Given the description of an element on the screen output the (x, y) to click on. 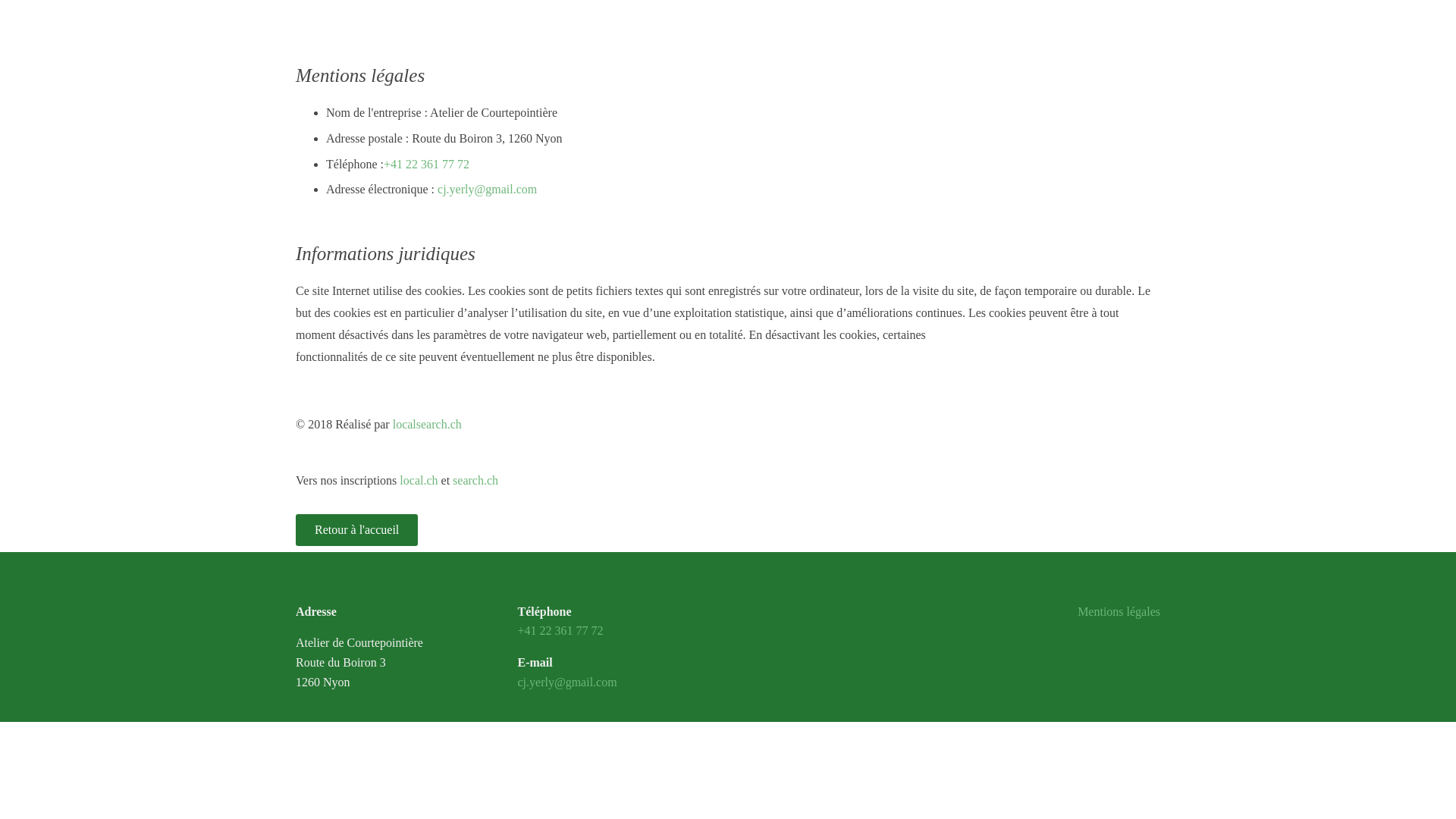
localsearch.ch Element type: text (426, 423)
cj.yerly@gmail.com Element type: text (566, 681)
search.ch Element type: text (475, 479)
cj.yerly@gmail.com Element type: text (486, 188)
local.ch Element type: text (418, 479)
+41 22 361 77 72 Element type: text (426, 163)
+41 22 361 77 72 Element type: text (559, 630)
